Given the description of an element on the screen output the (x, y) to click on. 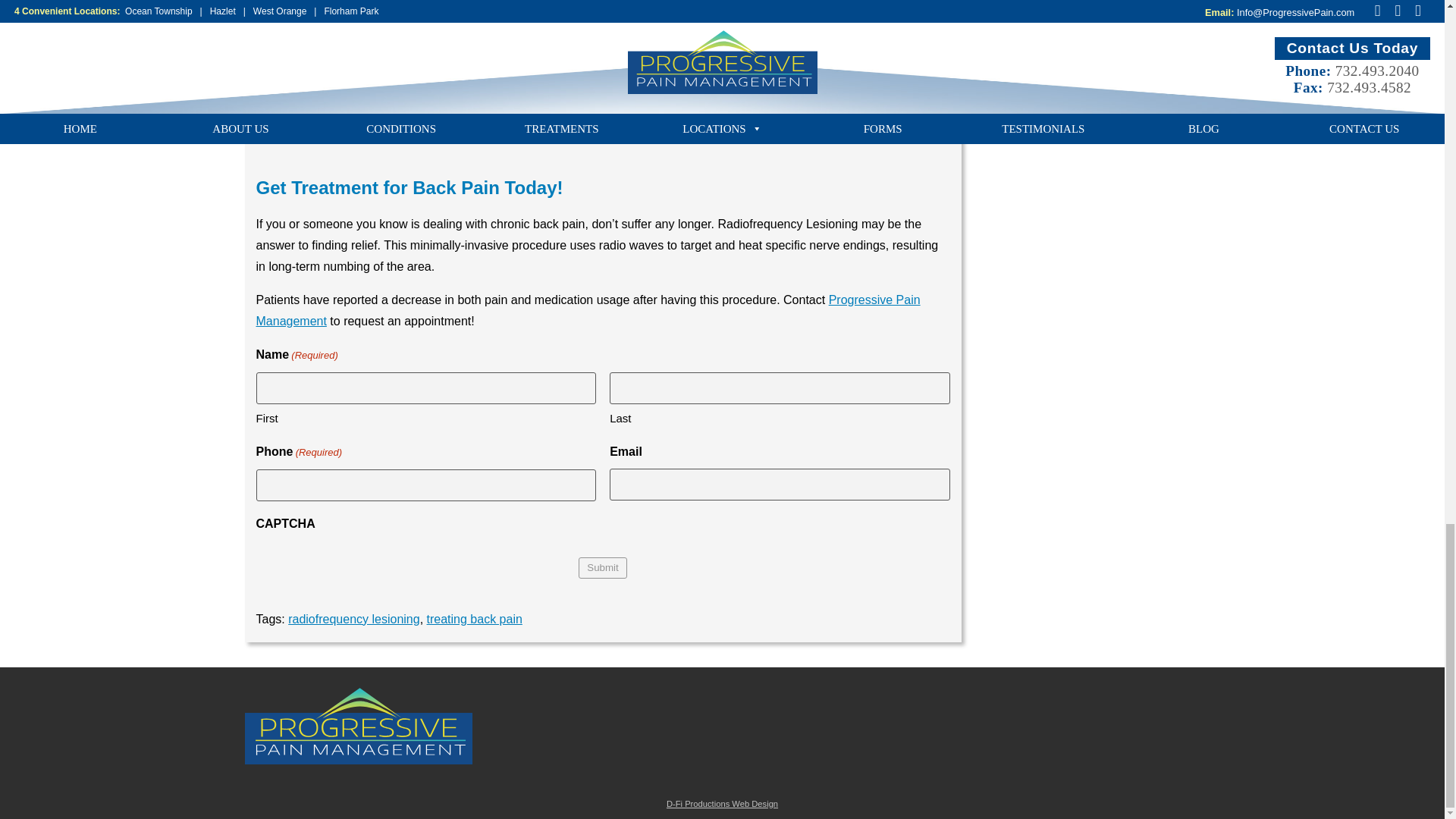
Submit (602, 567)
treating back pain (474, 618)
radiofrequency lesioning (353, 618)
Submit (602, 567)
D-Fi Productions NJ Web Design Company (721, 803)
Progressive Pain Management (588, 310)
